Given the description of an element on the screen output the (x, y) to click on. 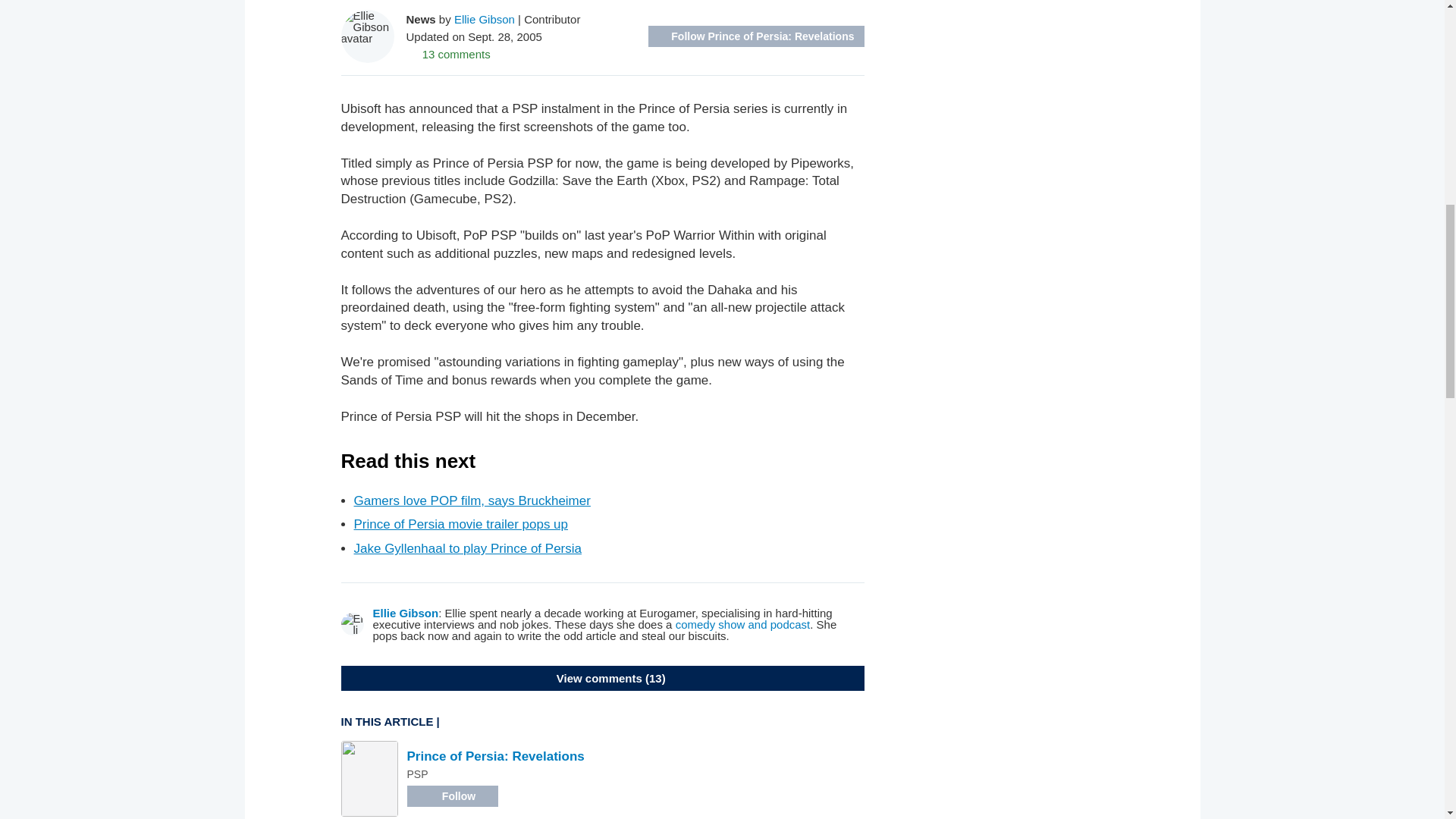
Prince of Persia: Revelations (494, 756)
Ellie Gibson (405, 612)
Gamers love POP film, says Bruckheimer (471, 500)
Ellie Gibson (484, 18)
Prince of Persia movie trailer pops up (460, 523)
Follow (451, 795)
comedy show and podcast (742, 624)
Follow Prince of Persia: Revelations (755, 35)
13 comments (448, 52)
Jake Gyllenhaal to play Prince of Persia (466, 548)
